Given the description of an element on the screen output the (x, y) to click on. 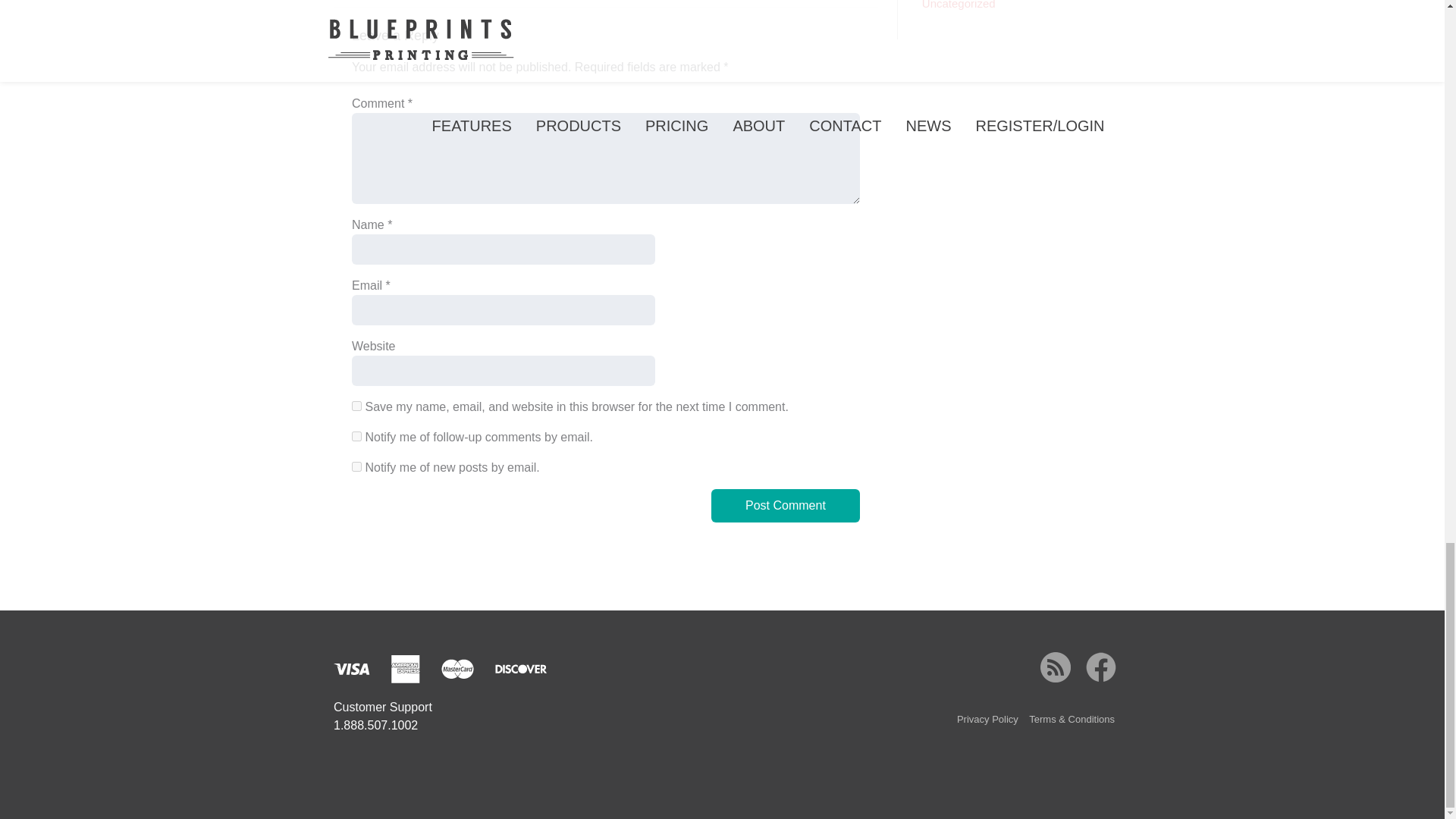
Post Comment (785, 505)
subscribe (356, 466)
Post Comment (785, 505)
yes (356, 406)
subscribe (356, 436)
